Given the description of an element on the screen output the (x, y) to click on. 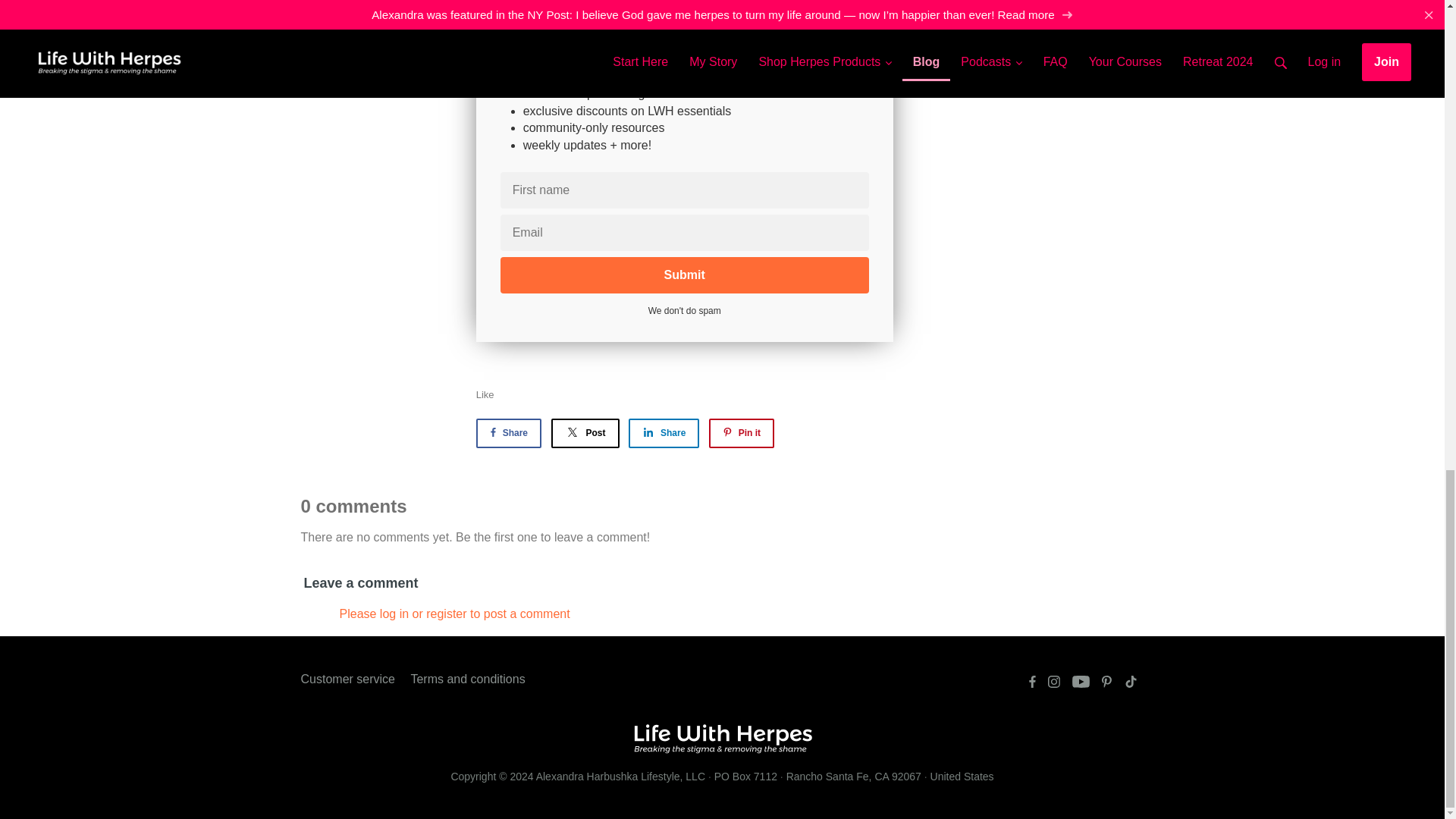
Like (485, 394)
Share on Facebook (508, 432)
Instagram (1053, 681)
Pin on Pinterest (741, 432)
Submit (684, 275)
Post (584, 432)
Tiktok (1131, 681)
Share on LinkedIn (663, 432)
YouTube (1080, 681)
Post on X (584, 432)
Share (663, 432)
Submit (684, 275)
Facebook (1031, 681)
Pinterest (1105, 681)
Pin it (741, 432)
